Given the description of an element on the screen output the (x, y) to click on. 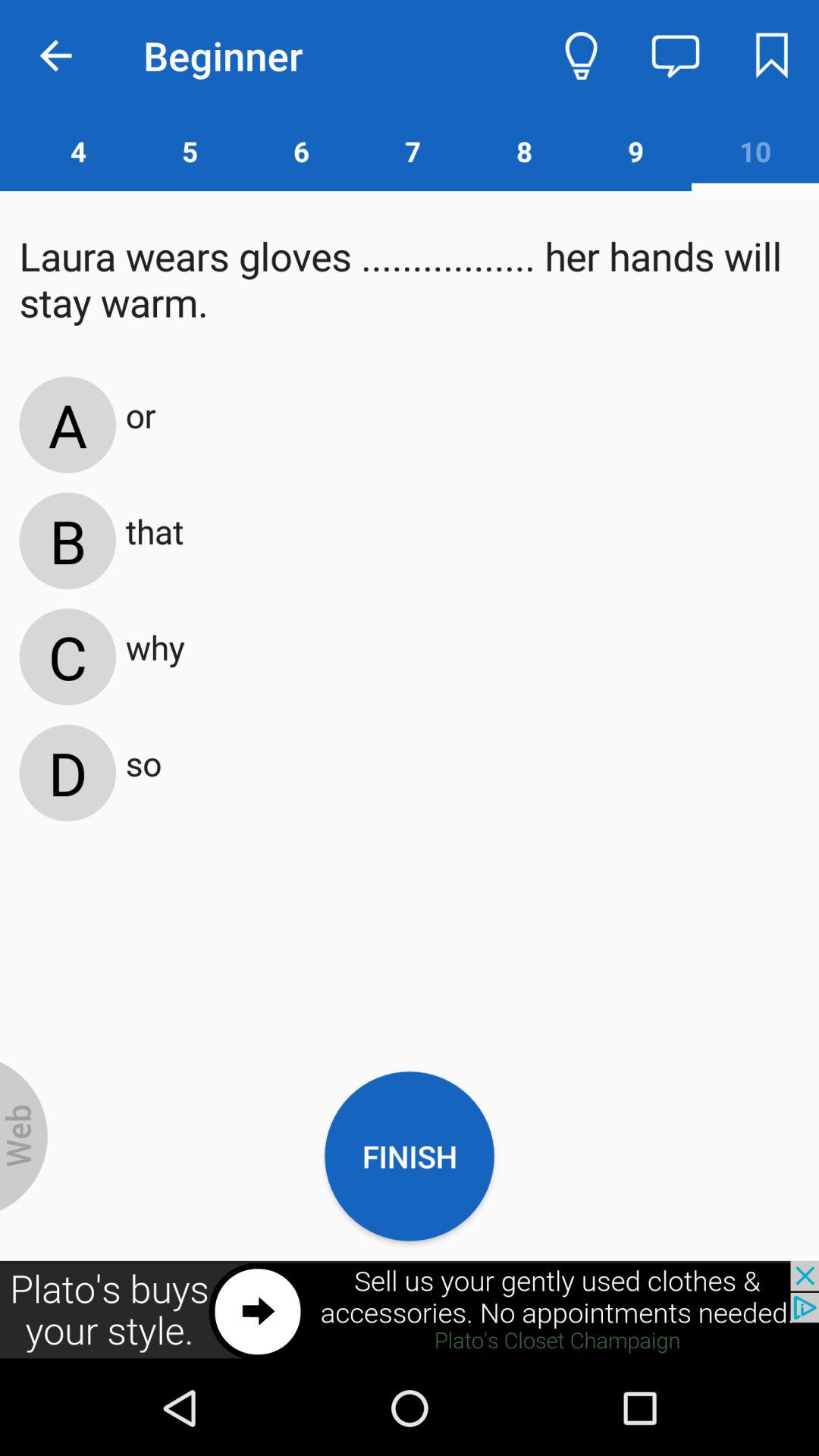
selected web option (23, 1135)
